Given the description of an element on the screen output the (x, y) to click on. 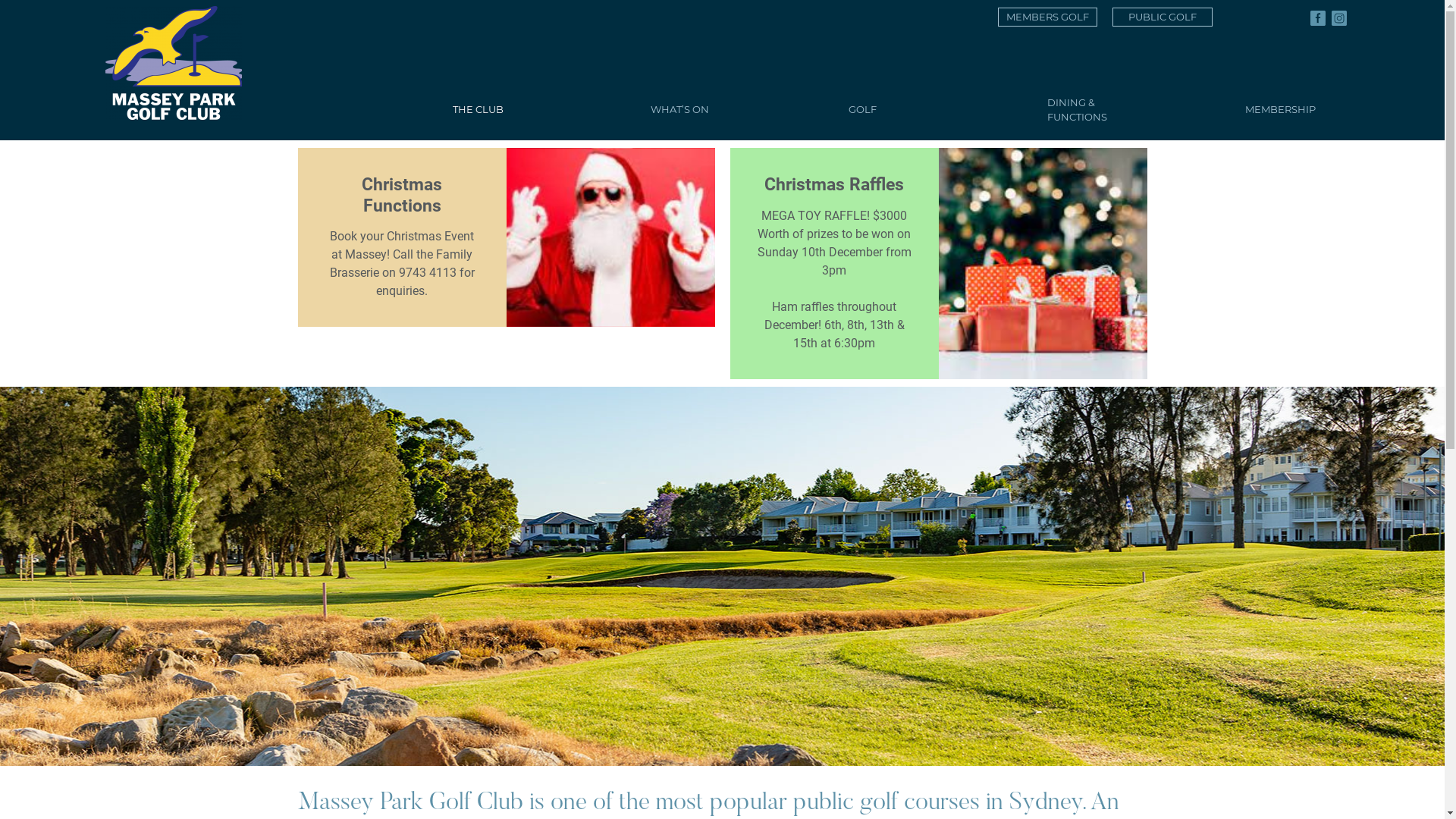
MEMBERSHIP Element type: text (1332, 109)
THE CLUB Element type: text (540, 109)
PUBLIC GOLF Element type: text (1162, 16)
GOLF Element type: text (936, 109)
DINING &
FUNCTIONS Element type: text (1134, 109)
MEMBERS GOLF Element type: text (1047, 16)
